Given the description of an element on the screen output the (x, y) to click on. 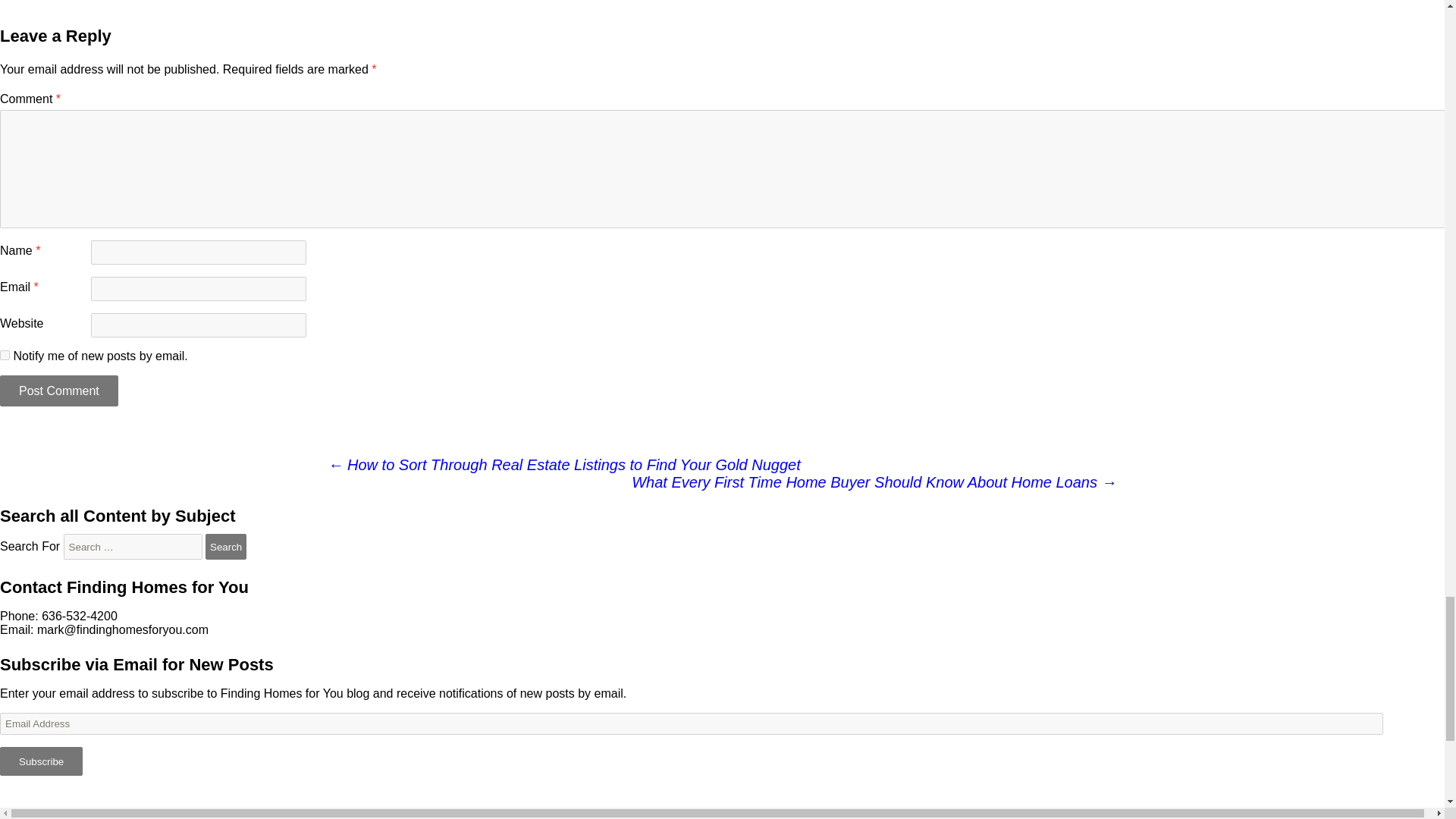
Search (225, 546)
Post Comment (58, 390)
subscribe (5, 355)
Search (225, 546)
Search for: (133, 546)
